Given the description of an element on the screen output the (x, y) to click on. 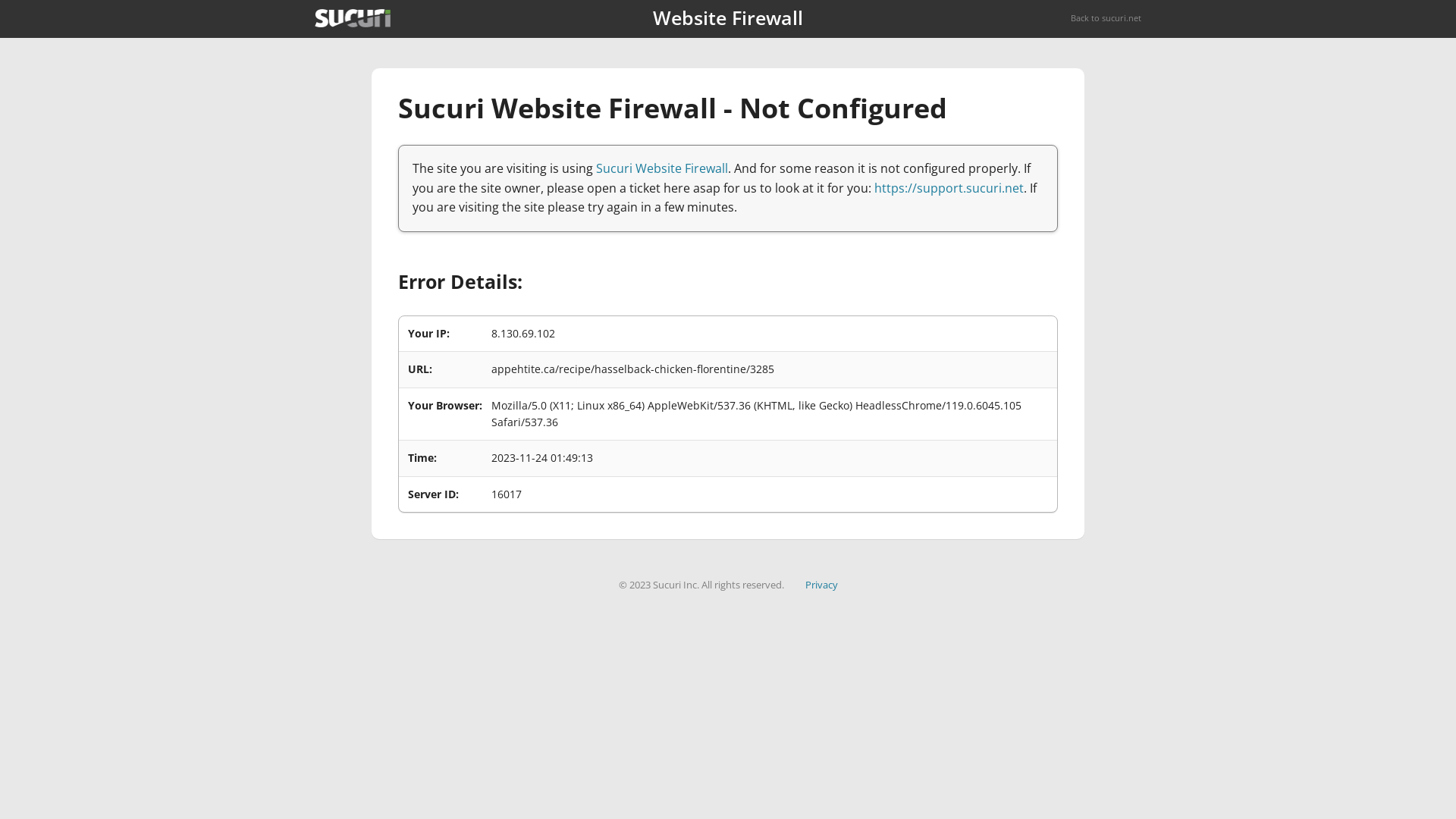
Back to sucuri.net Element type: text (1105, 18)
Privacy Element type: text (821, 584)
Sucuri Website Firewall Element type: text (662, 168)
https://support.sucuri.net Element type: text (948, 187)
